Given the description of an element on the screen output the (x, y) to click on. 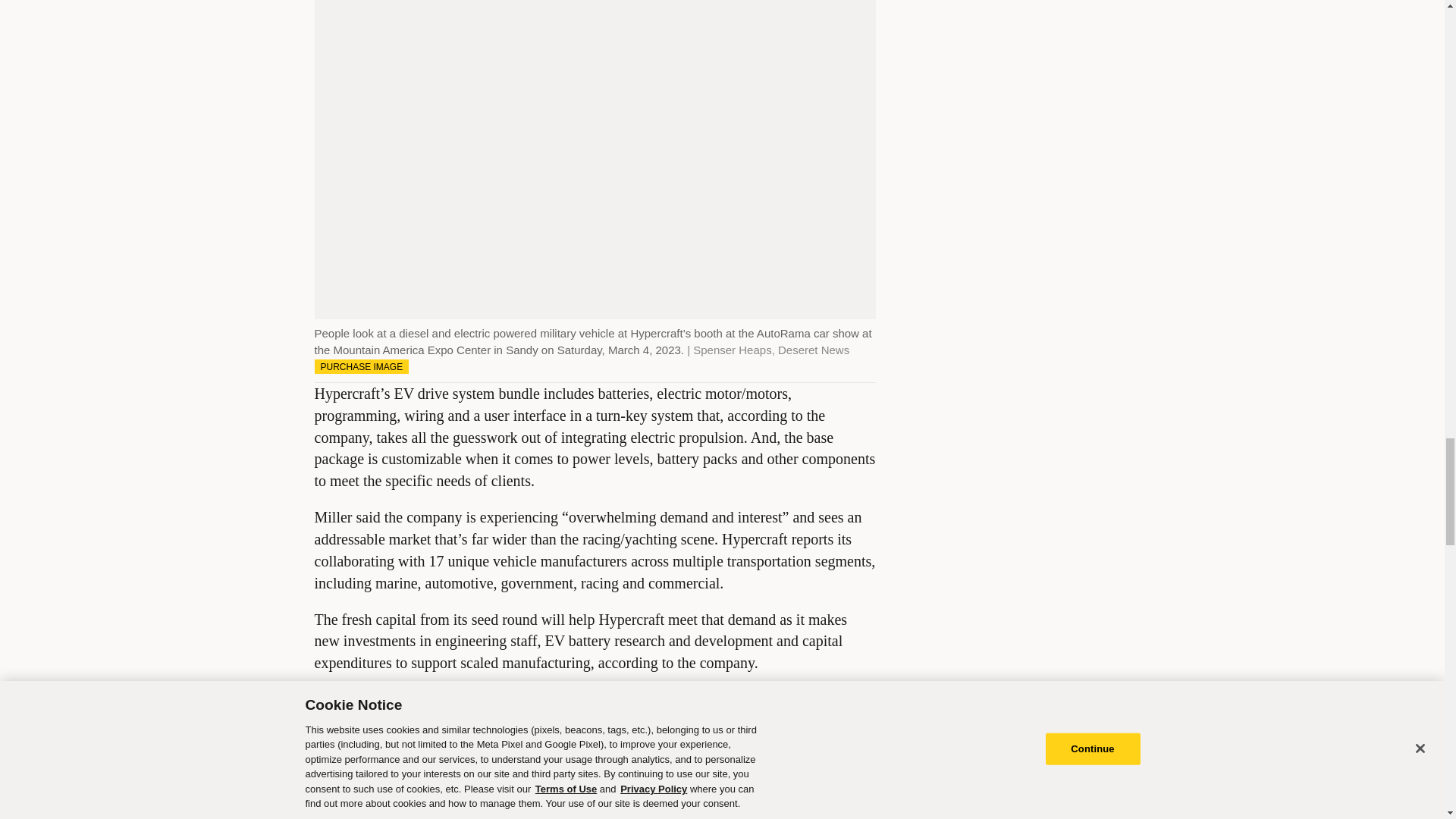
PURCHASE IMAGE (361, 366)
